Given the description of an element on the screen output the (x, y) to click on. 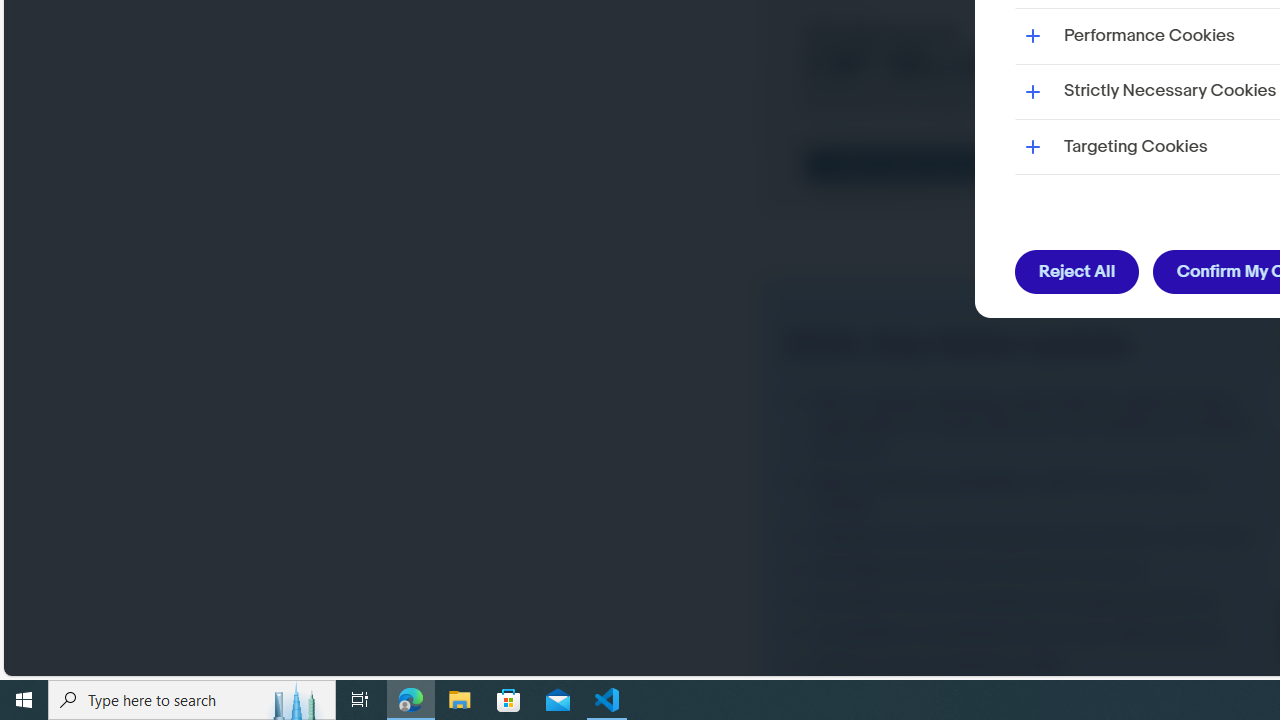
Get eBay product sales research on the go (1024, 569)
More marketing capabilities, right from your Active Listings (1024, 492)
Empower your advertising with more metrics and control (1024, 537)
Venmo is now accepted on eBay (1024, 665)
A simplified, consolidated view of your eBay earnings (1024, 632)
Reject All (1077, 272)
Say hello to the new desktop messaging experience (1024, 601)
